Given the description of an element on the screen output the (x, y) to click on. 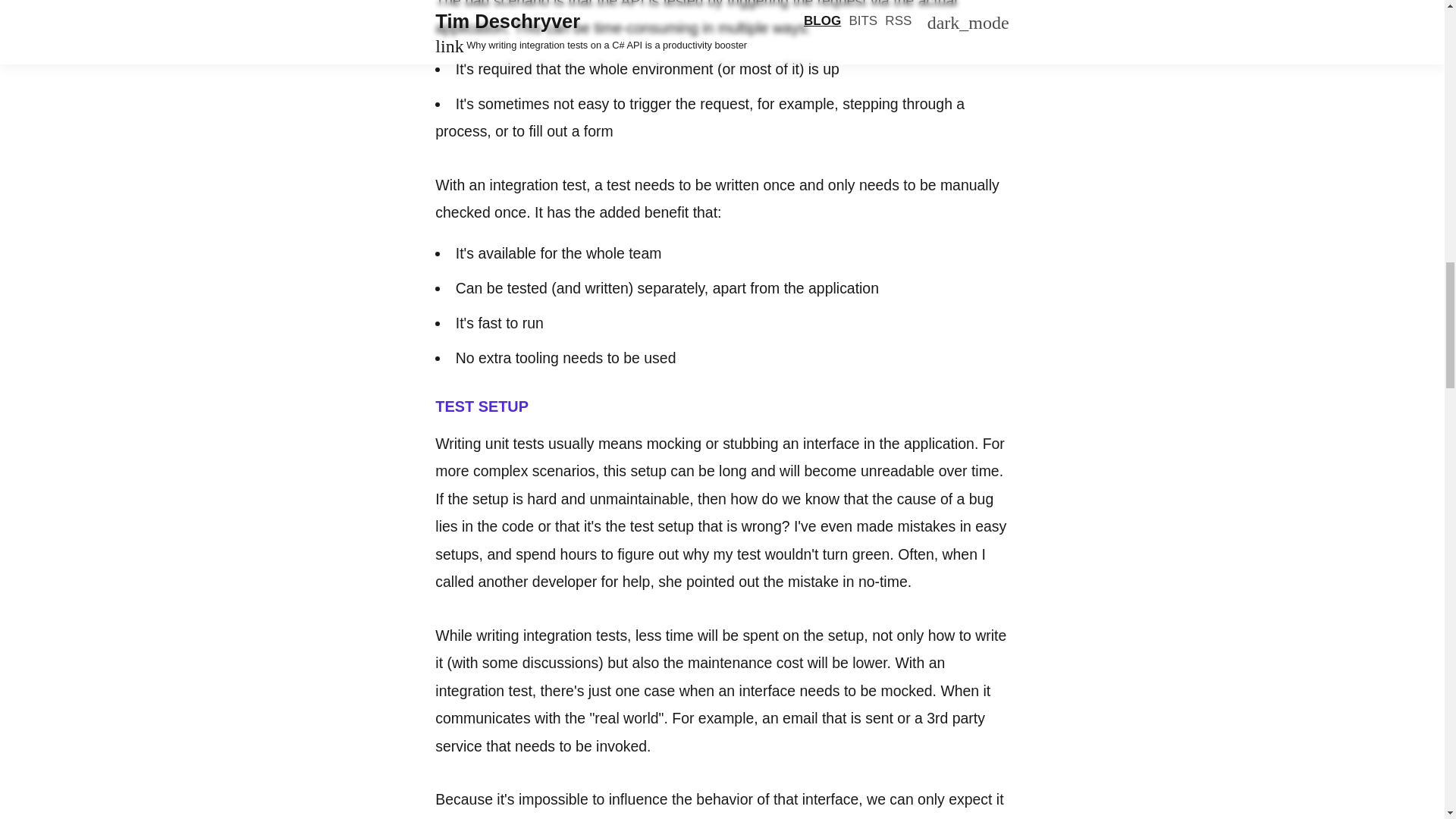
TEST SETUP (481, 406)
